Given the description of an element on the screen output the (x, y) to click on. 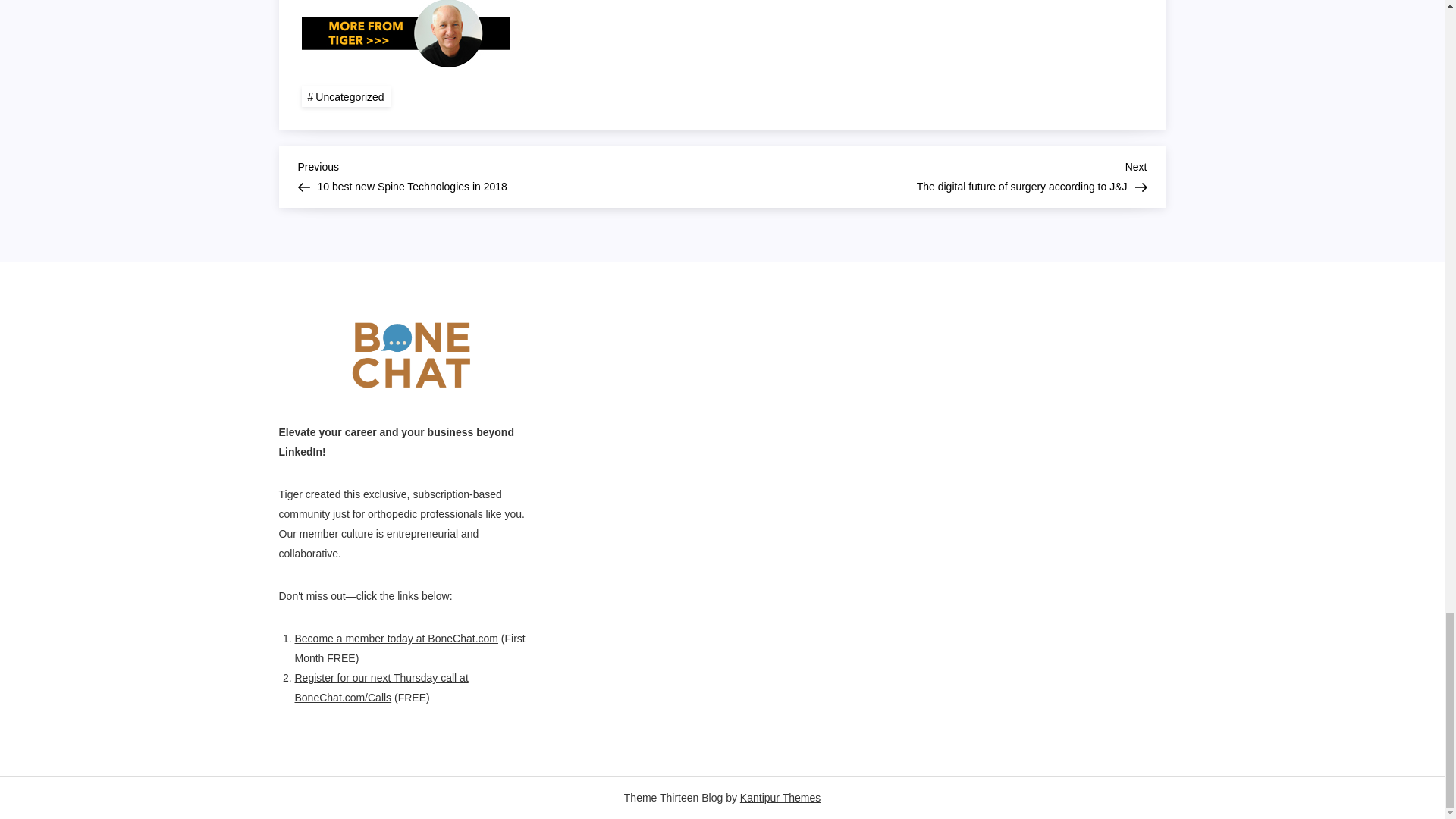
Uncategorized (345, 96)
Become a member today at BoneChat.com (395, 638)
Kantipur Themes (780, 797)
